Given the description of an element on the screen output the (x, y) to click on. 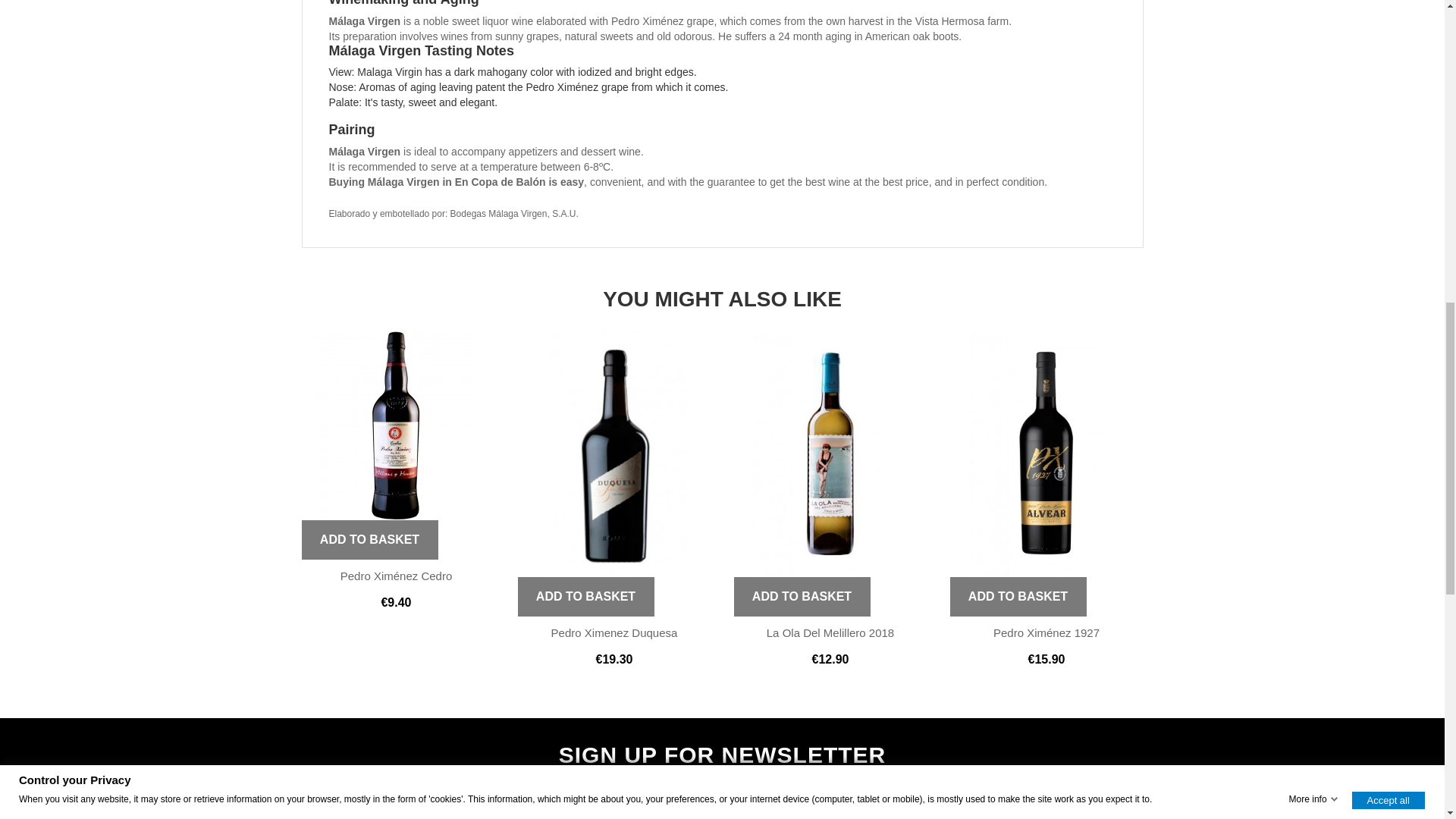
Vino Pedro Ximenez Robles 75 Cl. (396, 425)
Subscribe (1025, 803)
